Given the description of an element on the screen output the (x, y) to click on. 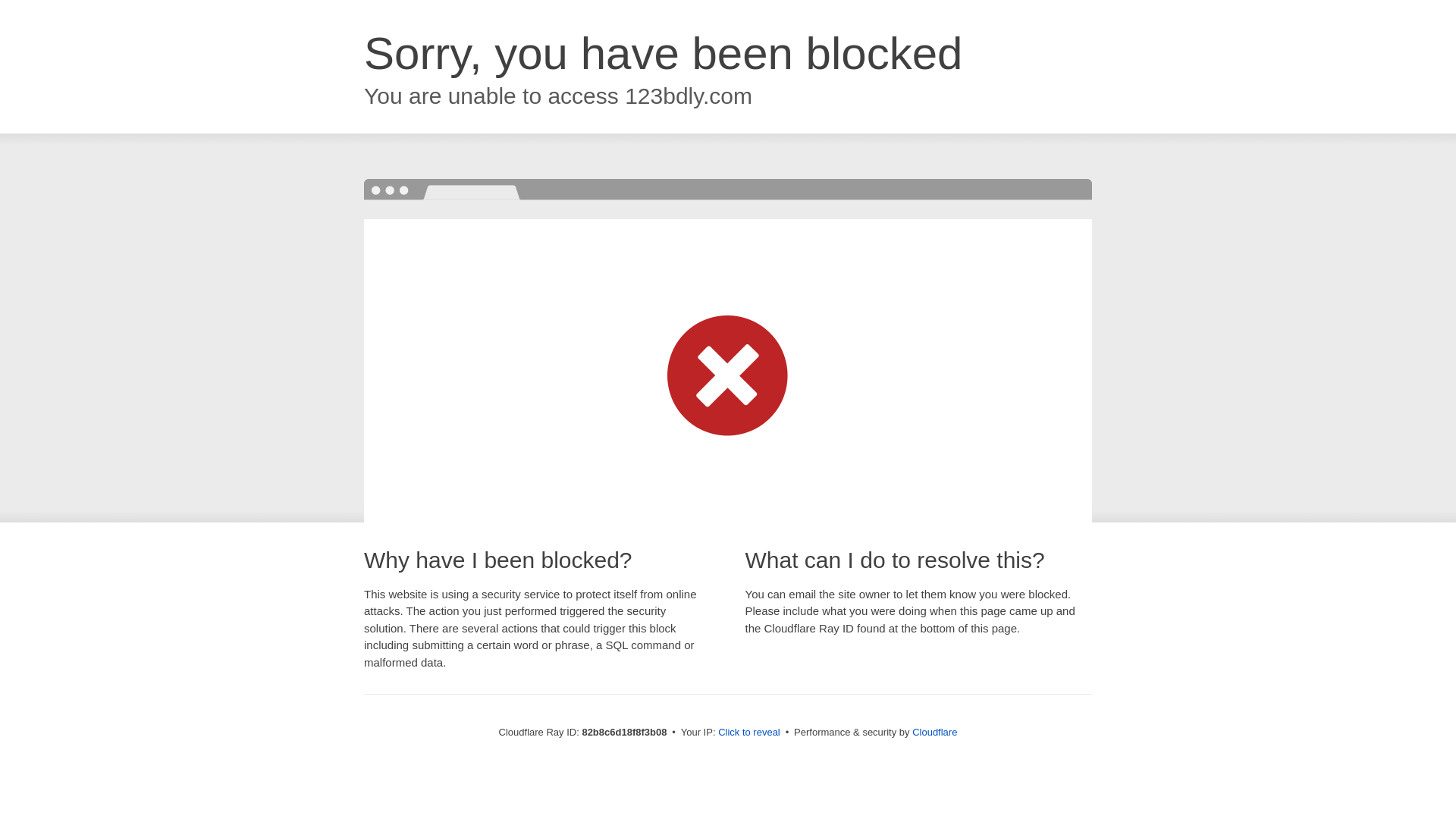
Cloudflare Element type: text (934, 731)
Click to reveal Element type: text (749, 732)
